Given the description of an element on the screen output the (x, y) to click on. 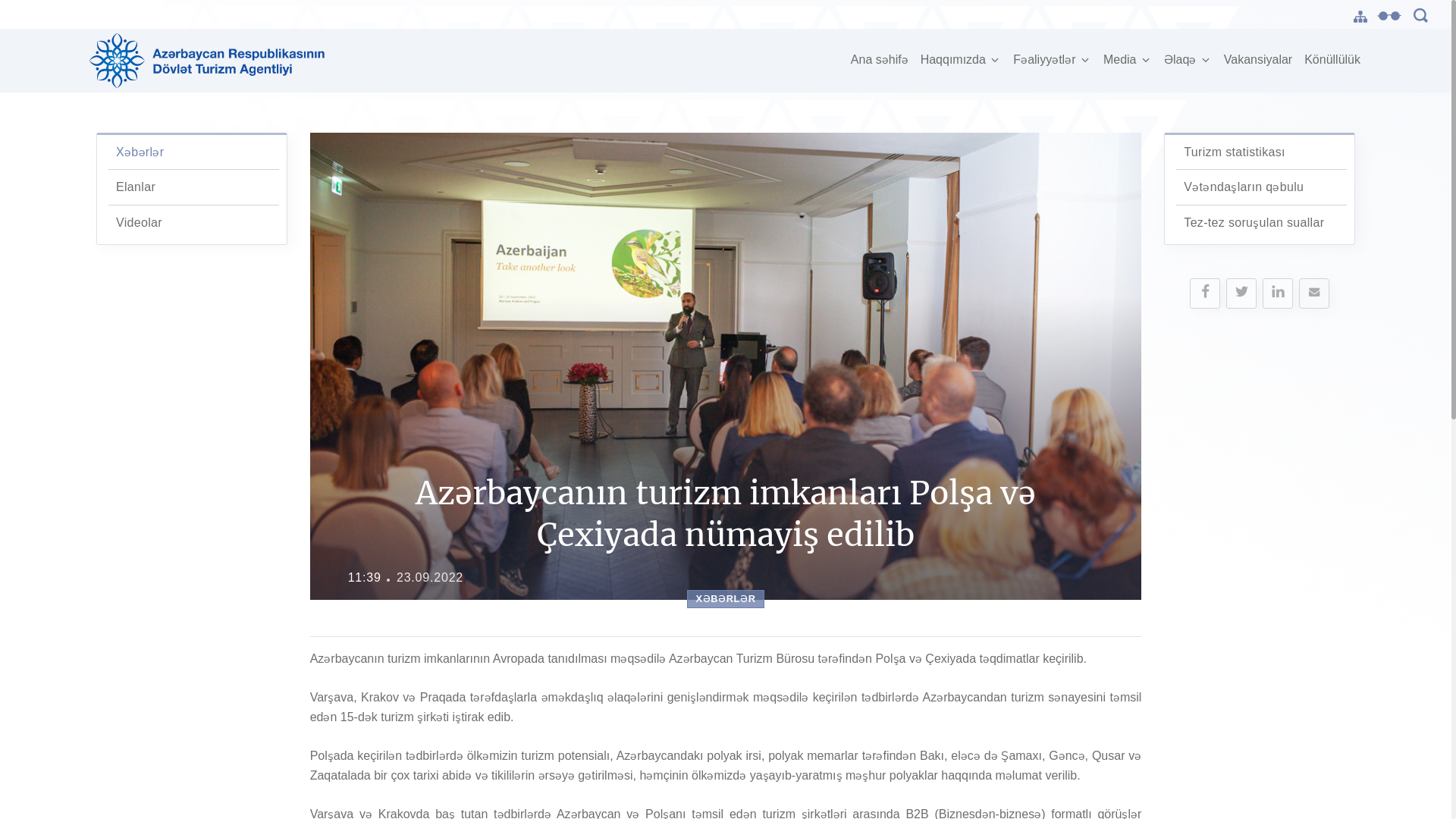
Elanlar Element type: text (135, 186)
Media Element type: text (1127, 59)
Videolar Element type: text (139, 222)
Vakansiyalar Element type: text (1257, 59)
